Given the description of an element on the screen output the (x, y) to click on. 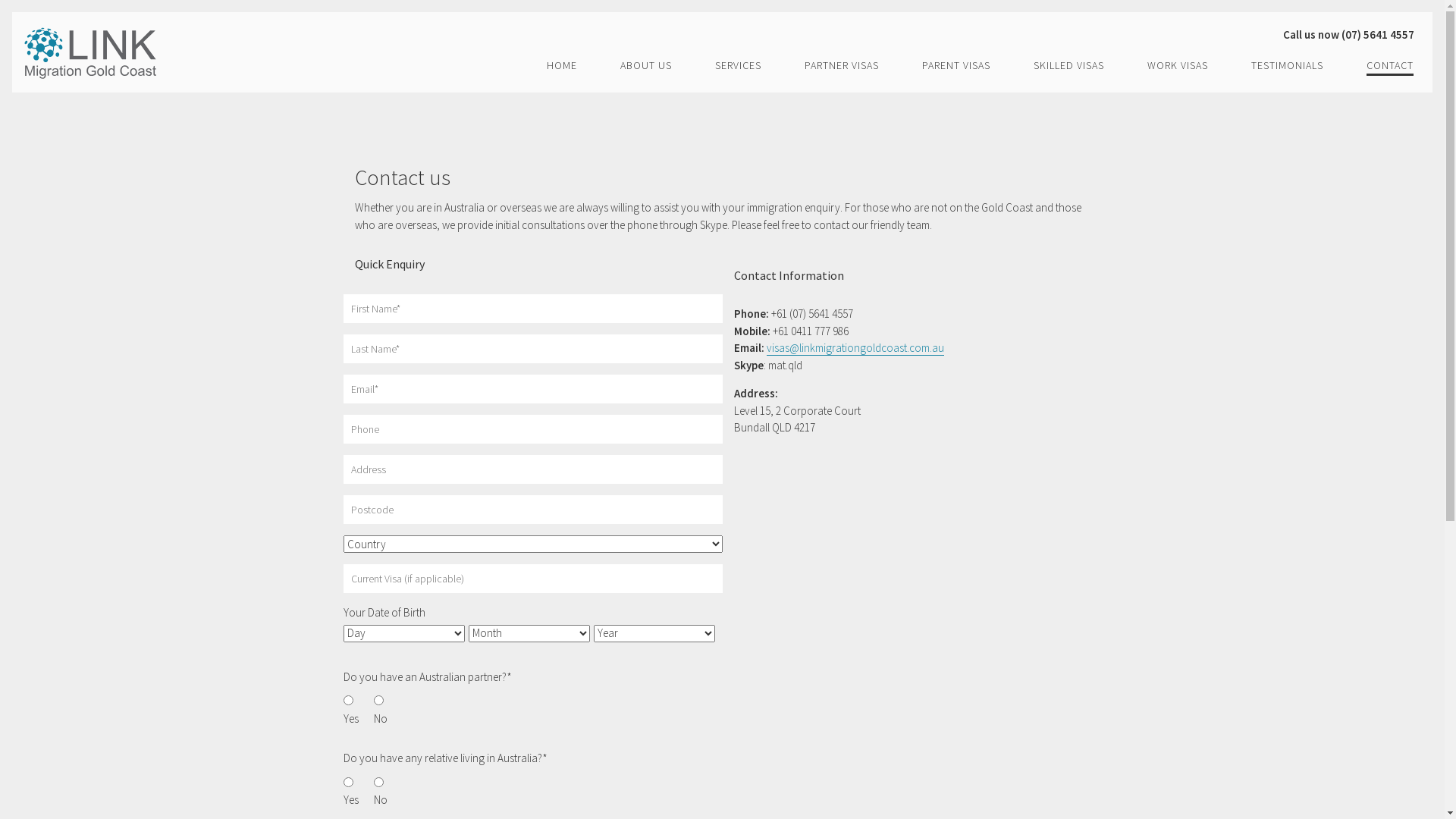
WORK VISAS Element type: text (1177, 65)
SERVICES Element type: text (738, 65)
SKILLED VISAS Element type: text (1068, 65)
TESTIMONIALS Element type: text (1287, 65)
PARTNER VISAS Element type: text (841, 65)
PARENT VISAS Element type: text (956, 65)
visas@linkmigrationgoldcoast.com.au Element type: text (854, 347)
ABOUT US Element type: text (645, 65)
HOME Element type: text (561, 65)
CONTACT Element type: text (1389, 65)
